Given the description of an element on the screen output the (x, y) to click on. 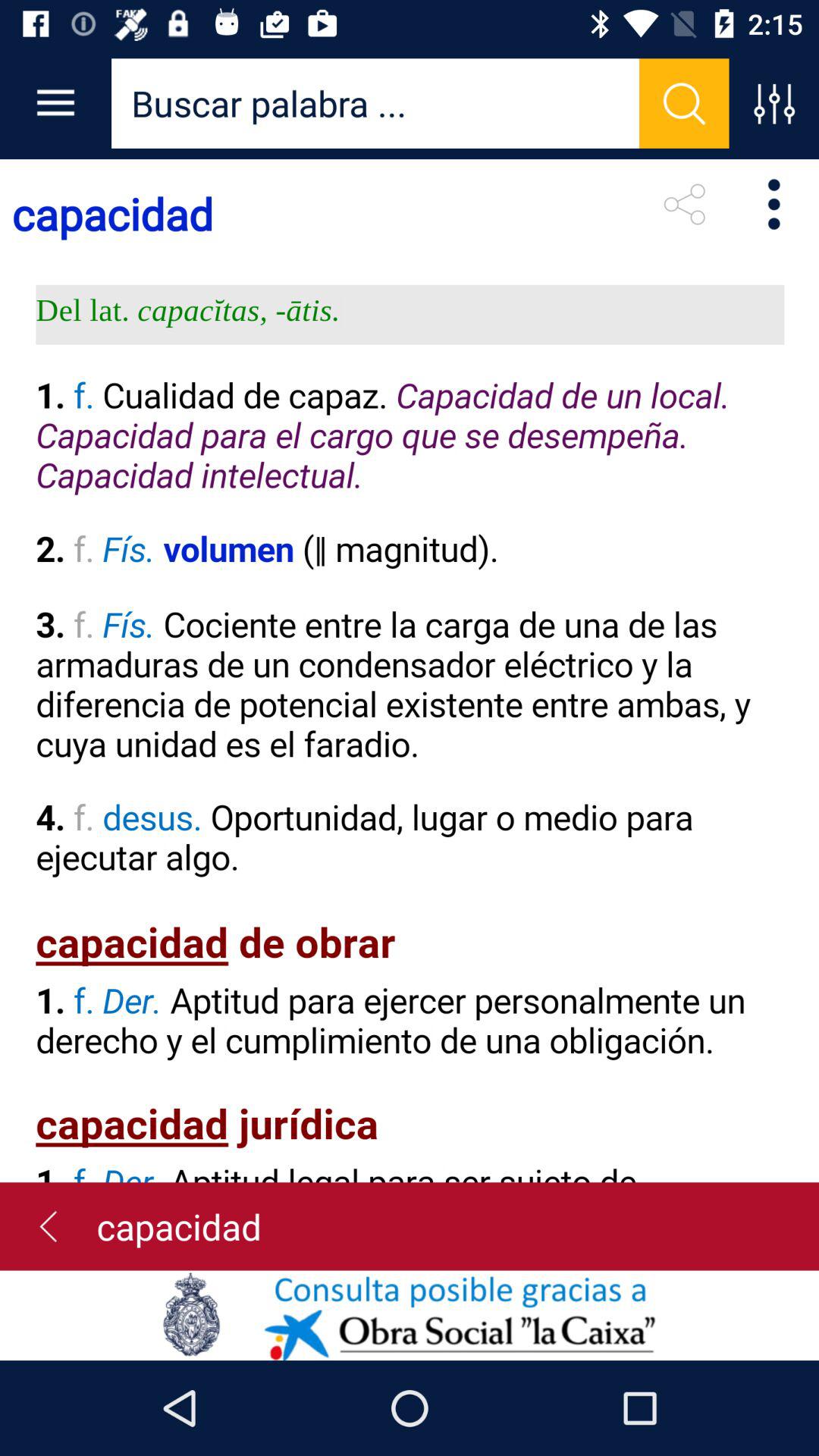
search bar (375, 103)
